Given the description of an element on the screen output the (x, y) to click on. 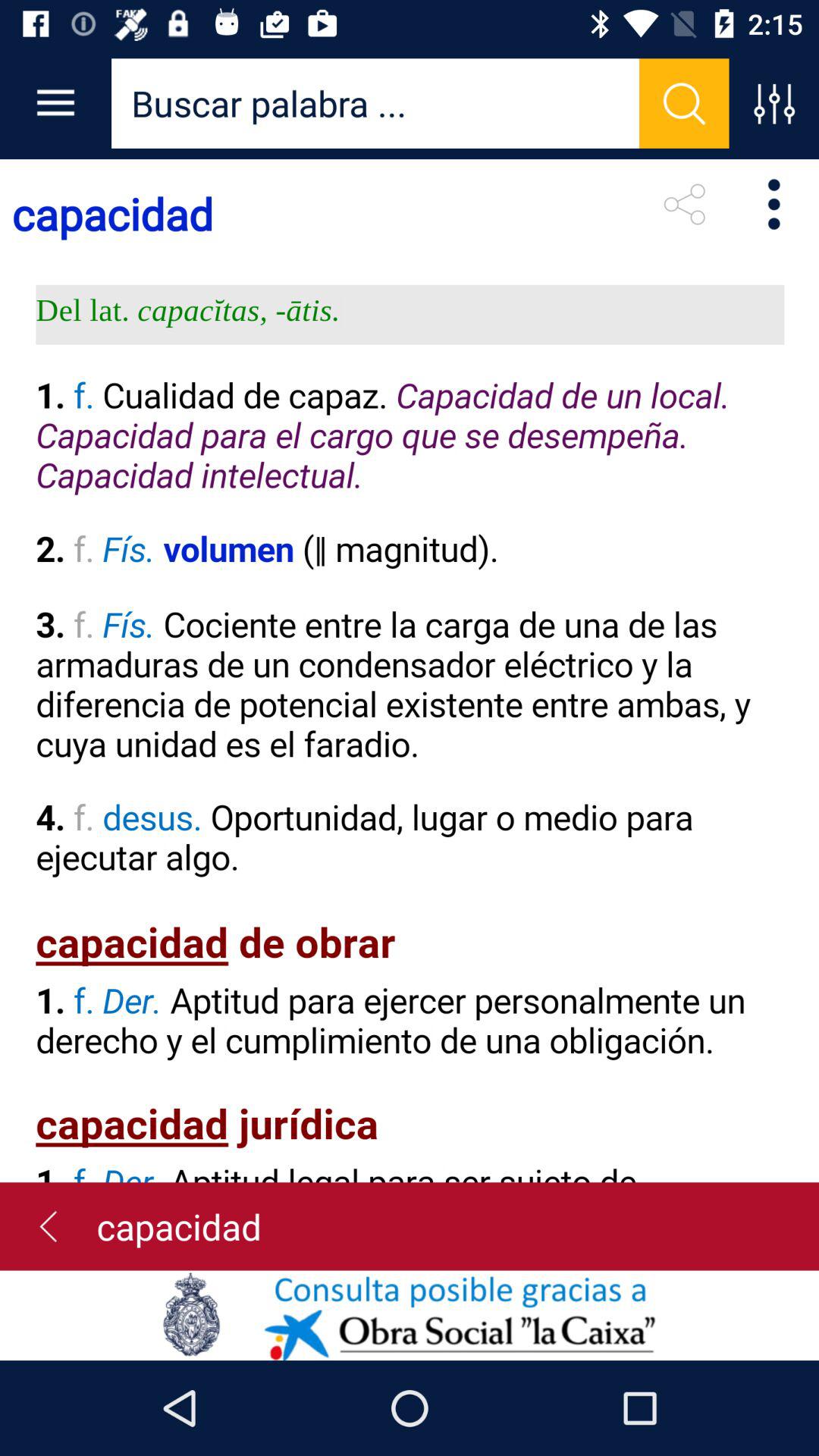
search bar (375, 103)
